Given the description of an element on the screen output the (x, y) to click on. 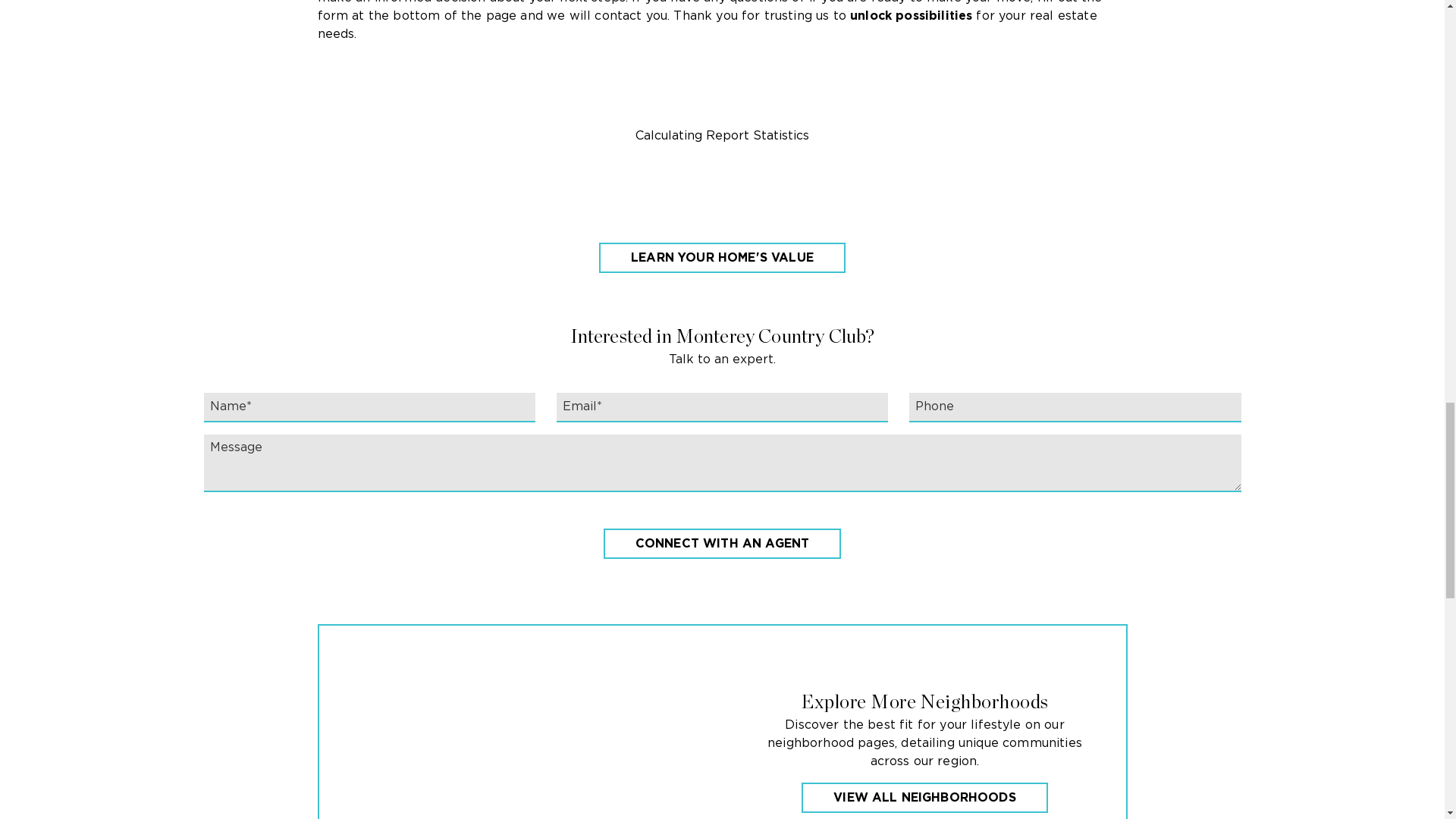
VIEW ALL NEIGHBORHOODS (925, 797)
LEARN YOUR HOME'S VALUE (721, 257)
CONNECT WITH AN AGENT (722, 543)
